Given the description of an element on the screen output the (x, y) to click on. 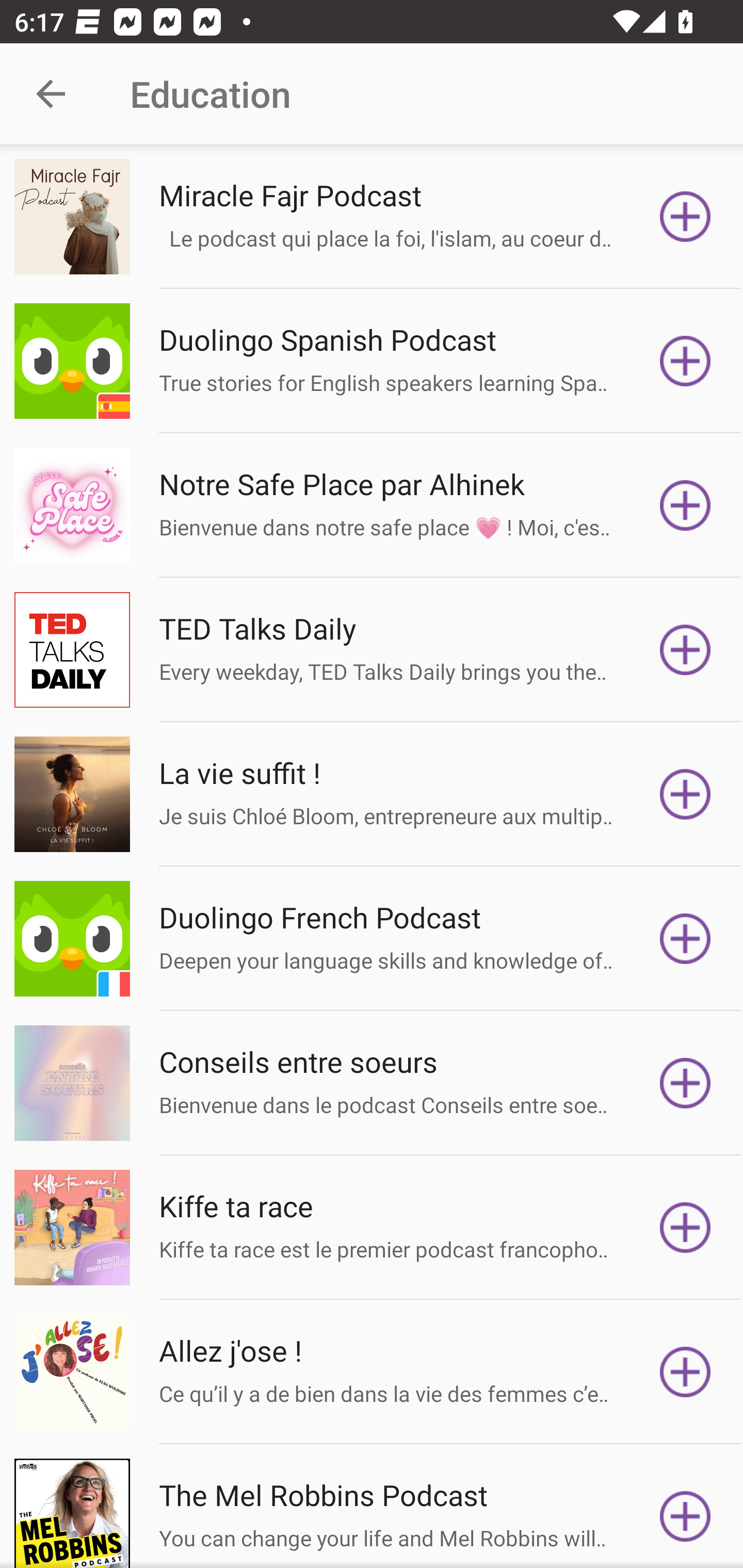
Navigate up (50, 93)
Subscribe (685, 216)
Subscribe (685, 360)
Subscribe (685, 505)
Subscribe (685, 649)
Subscribe (685, 793)
Subscribe (685, 939)
Subscribe (685, 1083)
Subscribe (685, 1227)
Subscribe (685, 1371)
Subscribe (685, 1513)
